Given the description of an element on the screen output the (x, y) to click on. 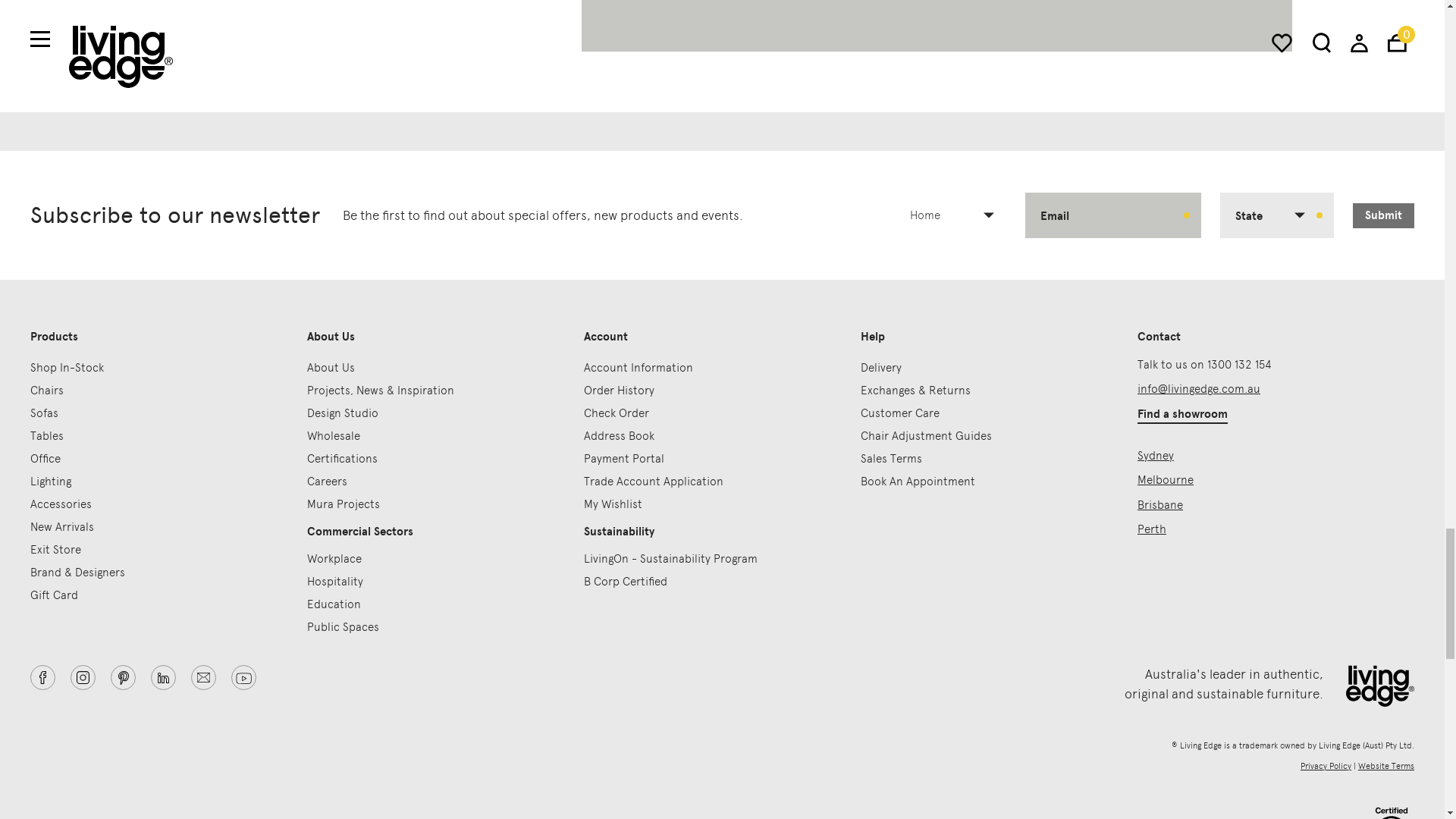
Home (958, 215)
